Given the description of an element on the screen output the (x, y) to click on. 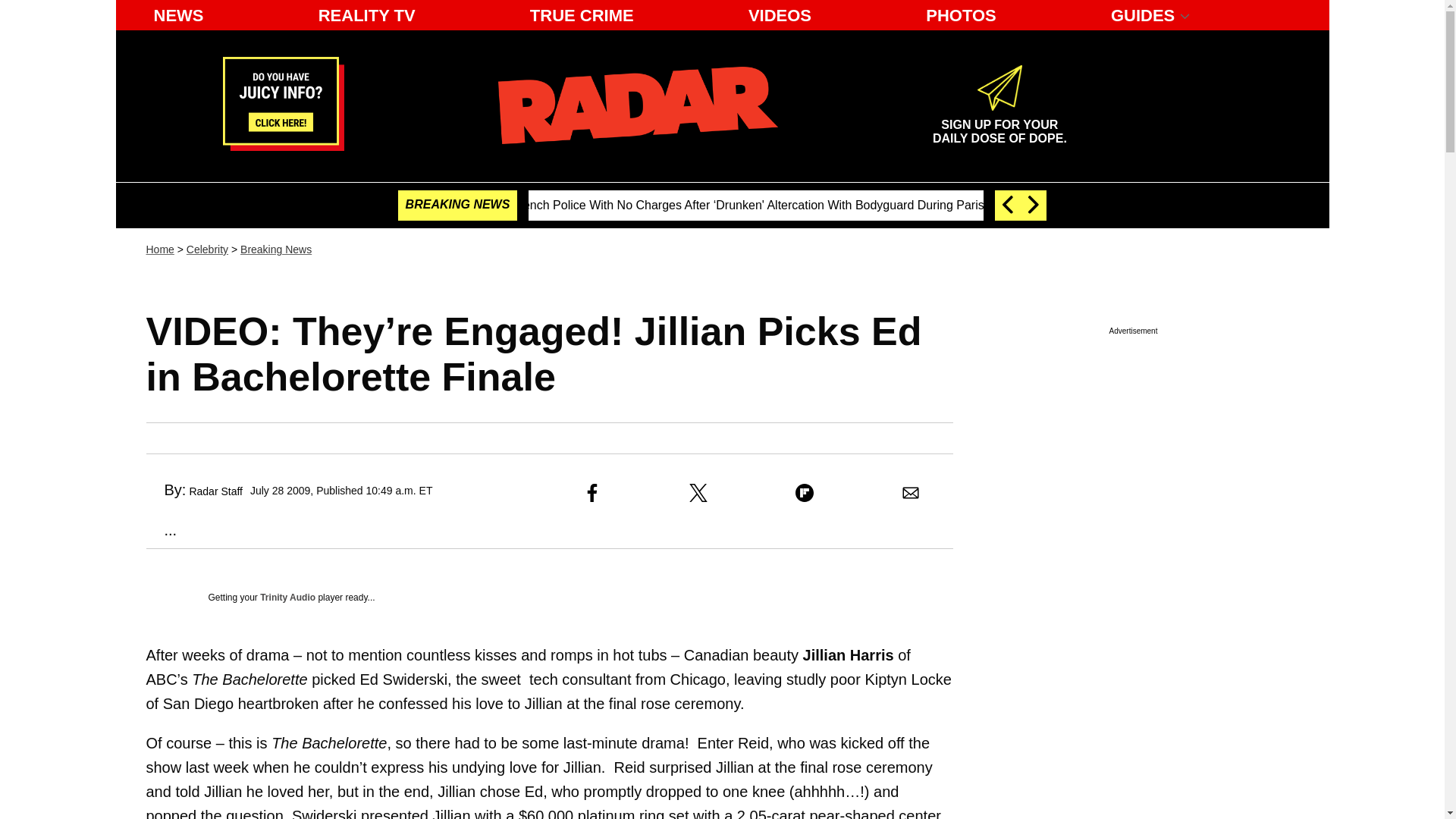
Radar Staff (216, 491)
Sign up for your daily dose of dope. (999, 124)
Trinity Audio (287, 597)
Breaking News (275, 249)
Share to X (697, 493)
Email us your tip (282, 146)
REALITY TV (367, 15)
Share to Email (909, 493)
VIDEOS (779, 15)
Share to Flipboard (803, 493)
